Given the description of an element on the screen output the (x, y) to click on. 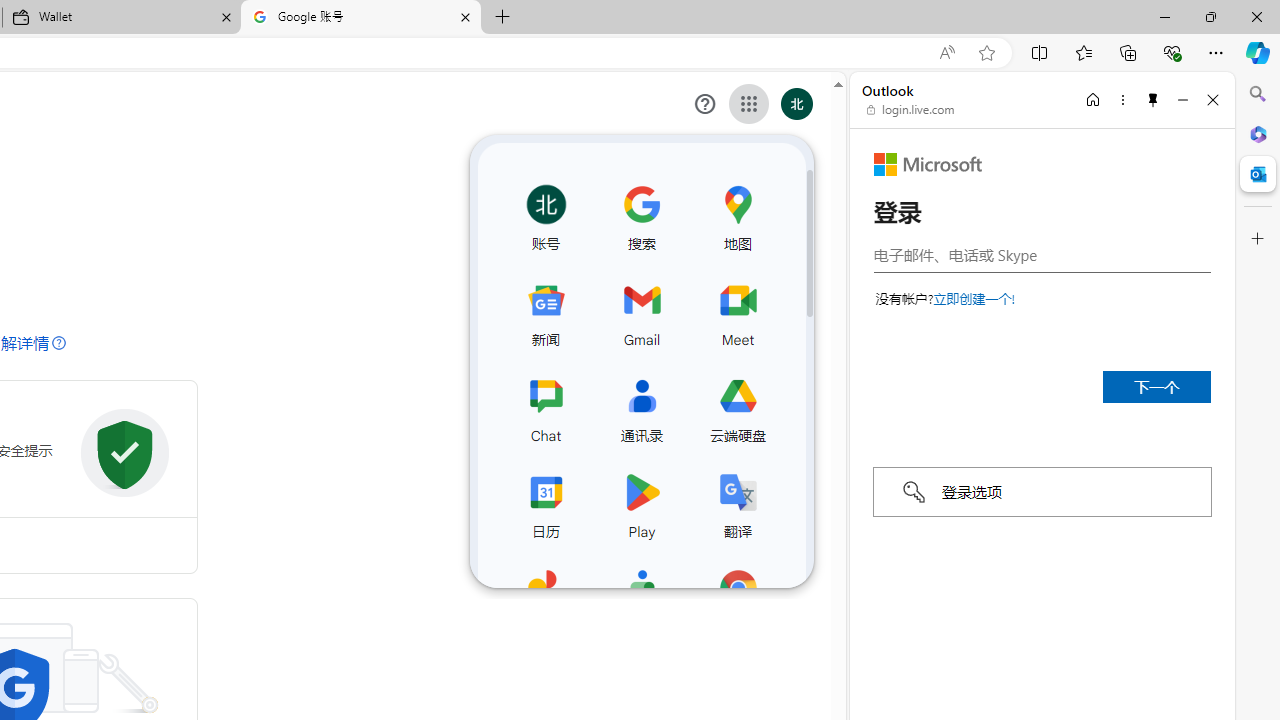
Chrome (737, 598)
